Given the description of an element on the screen output the (x, y) to click on. 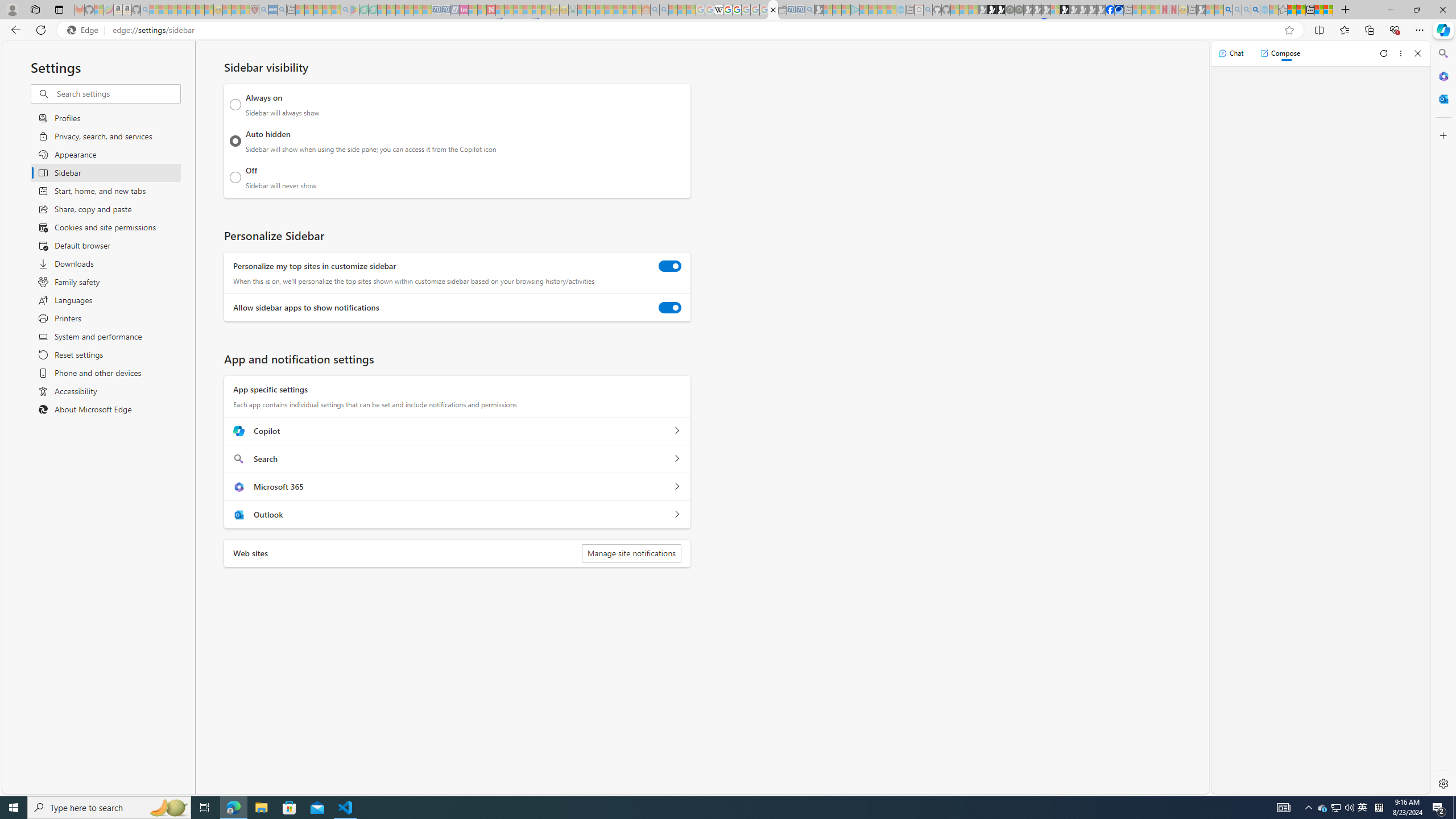
Bing Real Estate - Home sales and rental listings - Sleeping (809, 9)
Google Chrome Internet Browser Download - Search Images (1255, 9)
Copilot (676, 430)
Chat (1230, 52)
